Given the description of an element on the screen output the (x, y) to click on. 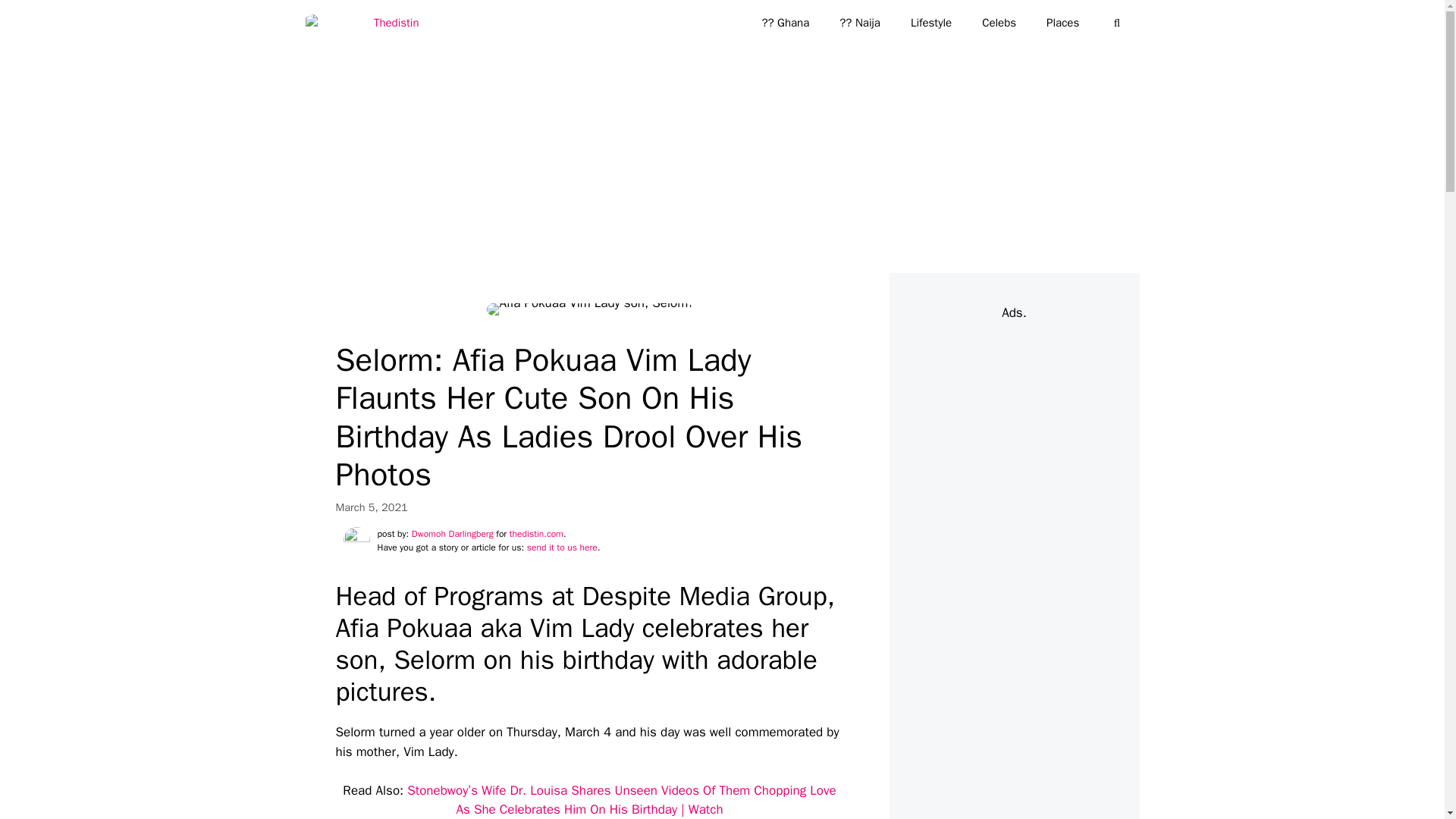
Dwomoh Darlingberg (452, 533)
?? Naija (859, 22)
Search (35, 18)
Lifestyle (930, 22)
Thedistin (361, 22)
Places (1062, 22)
thedistin.com (536, 533)
?? Ghana (784, 22)
Celebs (998, 22)
